Given the description of an element on the screen output the (x, y) to click on. 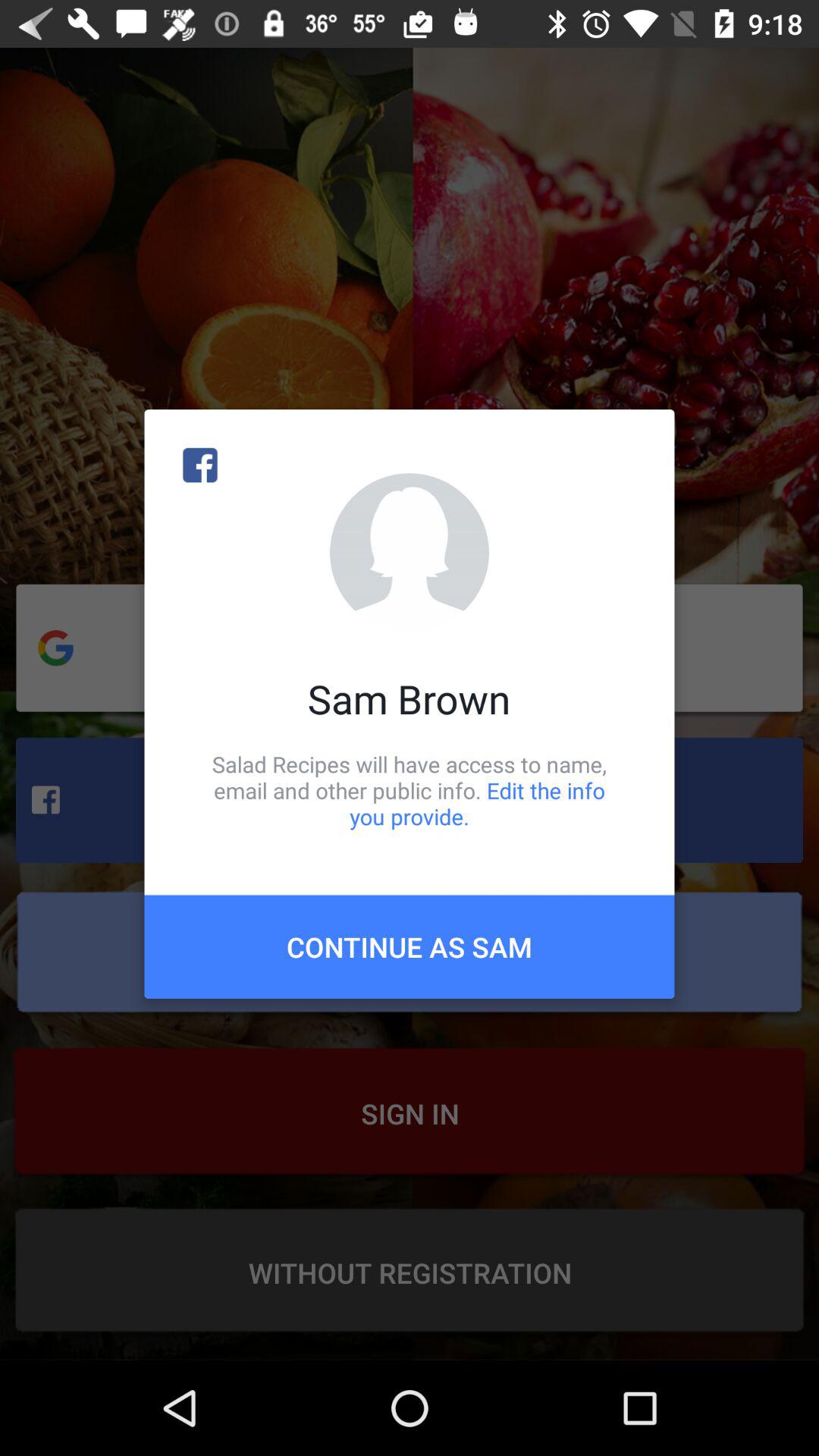
tap icon below salad recipes will icon (409, 946)
